Given the description of an element on the screen output the (x, y) to click on. 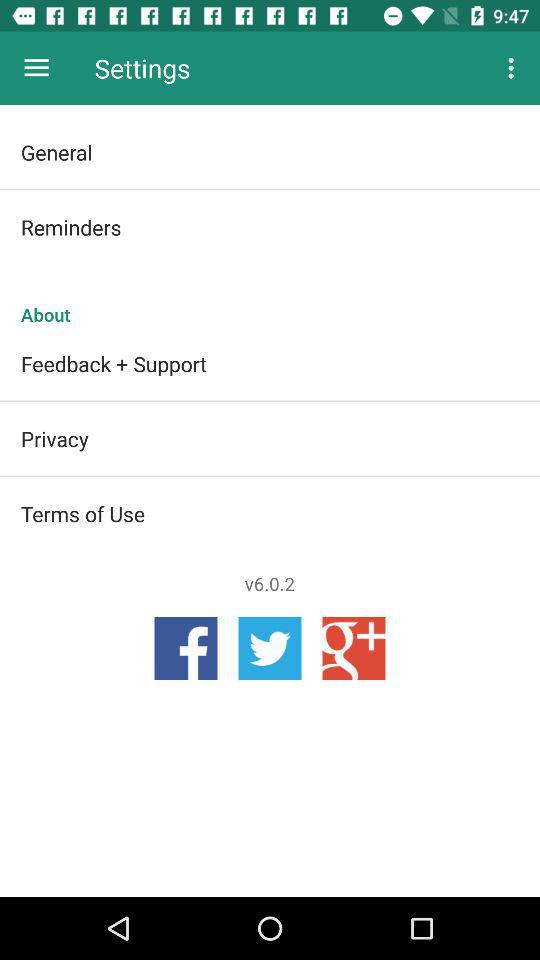
open the reminders (270, 227)
